Given the description of an element on the screen output the (x, y) to click on. 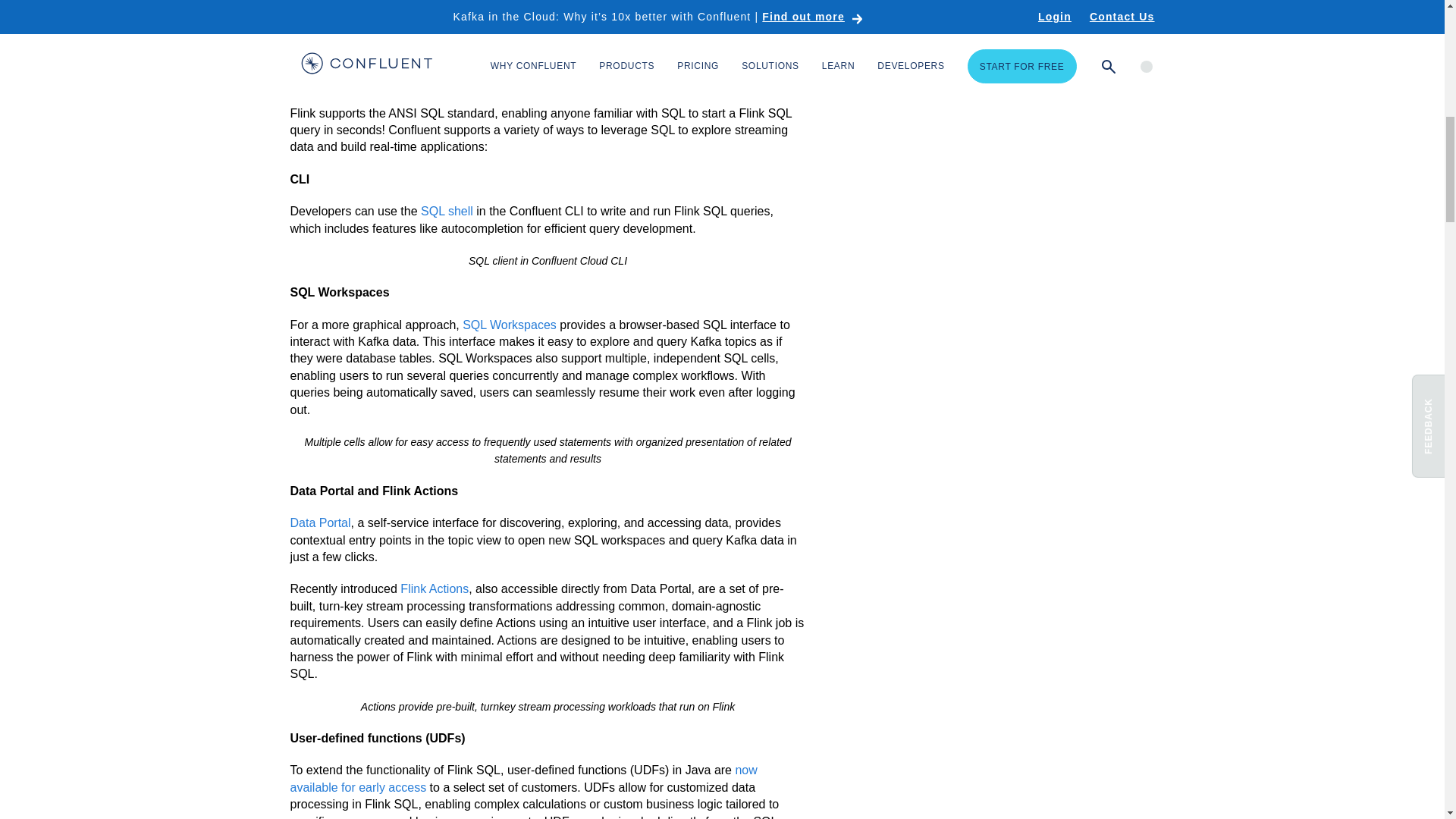
View all posts by Hasan Jilani (1029, 22)
